Given the description of an element on the screen output the (x, y) to click on. 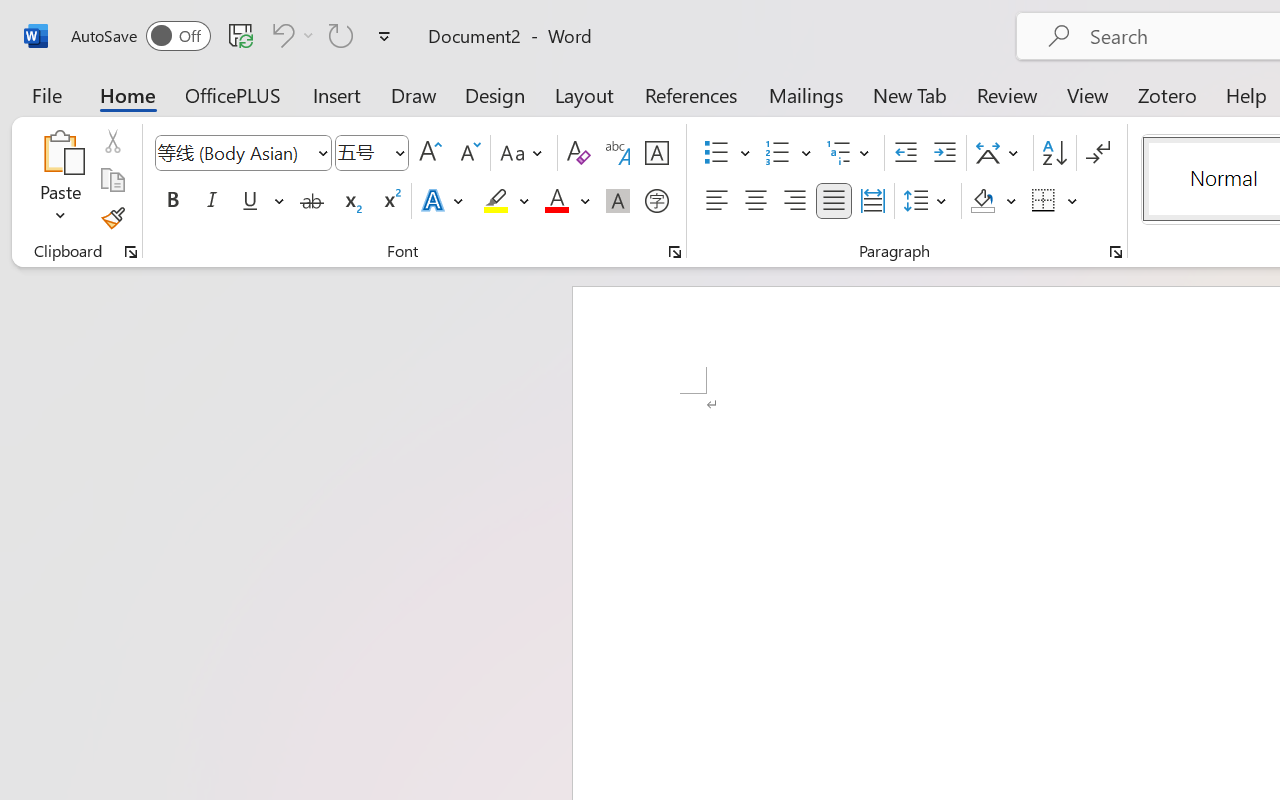
Underline (250, 201)
OfficePLUS (233, 94)
Italic (212, 201)
Paragraph... (1115, 252)
More Options (1073, 201)
Bullets (727, 153)
Center (756, 201)
Font Color Red (556, 201)
Font Size (372, 153)
Shading RGB(0, 0, 0) (982, 201)
References (690, 94)
Change Case (524, 153)
Save (241, 35)
Font Size (362, 152)
Text Highlight Color (506, 201)
